Given the description of an element on the screen output the (x, y) to click on. 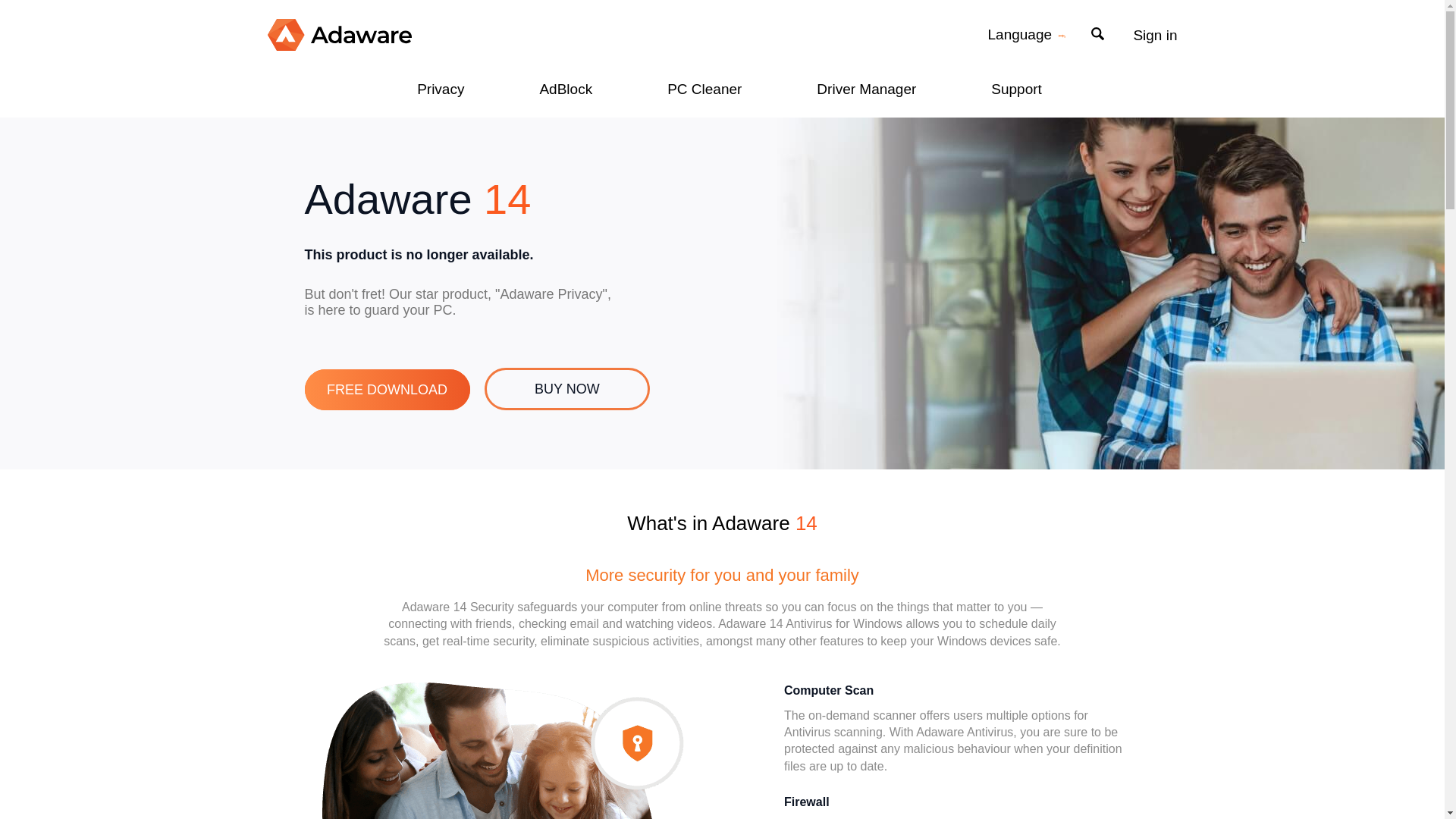
Driver Manager (858, 87)
BUY NOW (566, 388)
PC Cleaner (696, 87)
Support (1009, 87)
Sign in (1154, 35)
AdBlock (558, 87)
Privacy (433, 87)
FREE DOWNLOAD (387, 389)
